Given the description of an element on the screen output the (x, y) to click on. 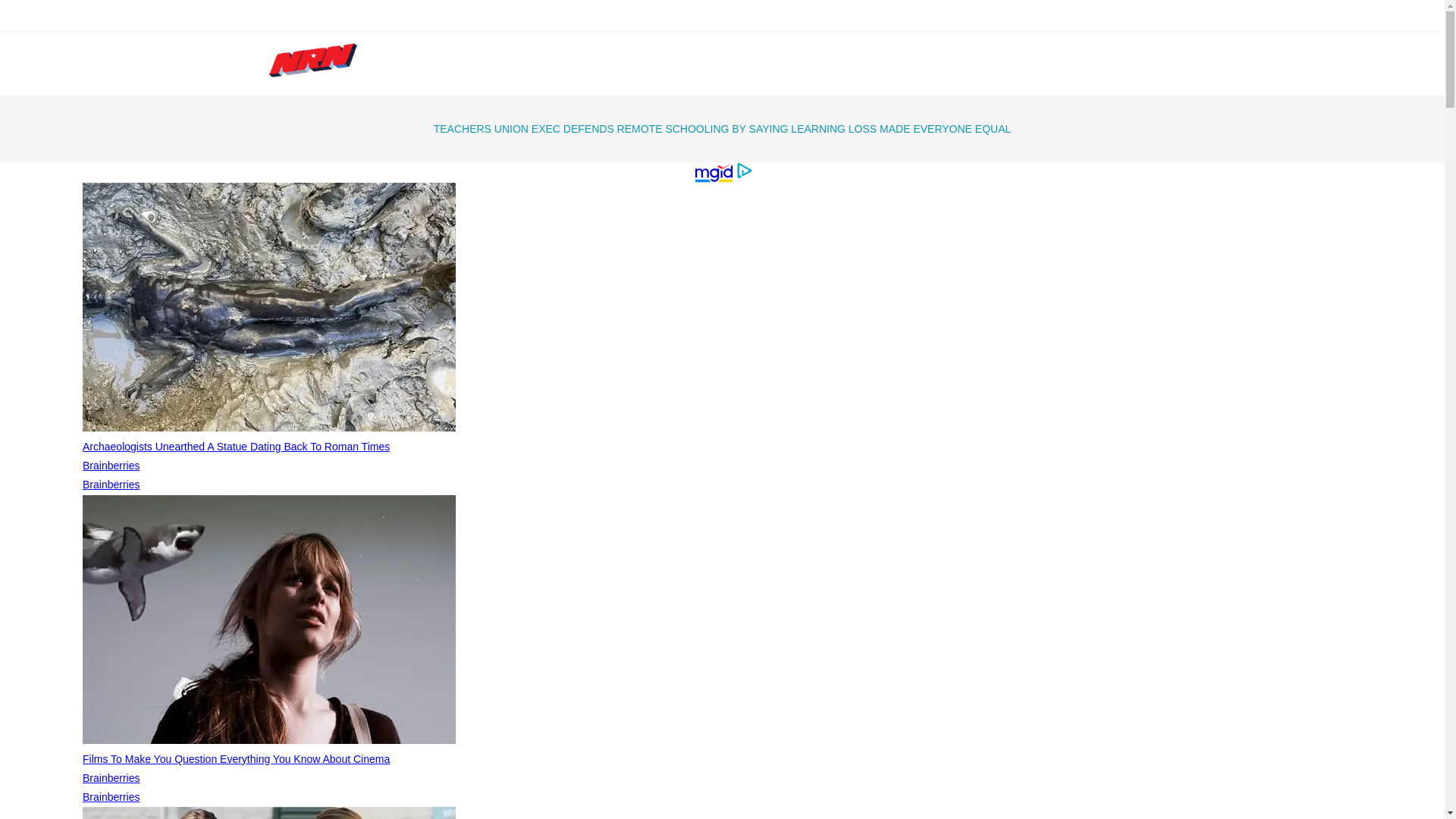
OPEN BORDER (868, 15)
SUPPORT US (905, 63)
TRENDING: (518, 15)
CHINA (941, 15)
TRUMP (581, 15)
WRITE FOR US (1011, 63)
NEWS (566, 63)
COLUMNISTS (740, 63)
TUCKER CARLSON (665, 15)
COLUMNS (639, 63)
